Given the description of an element on the screen output the (x, y) to click on. 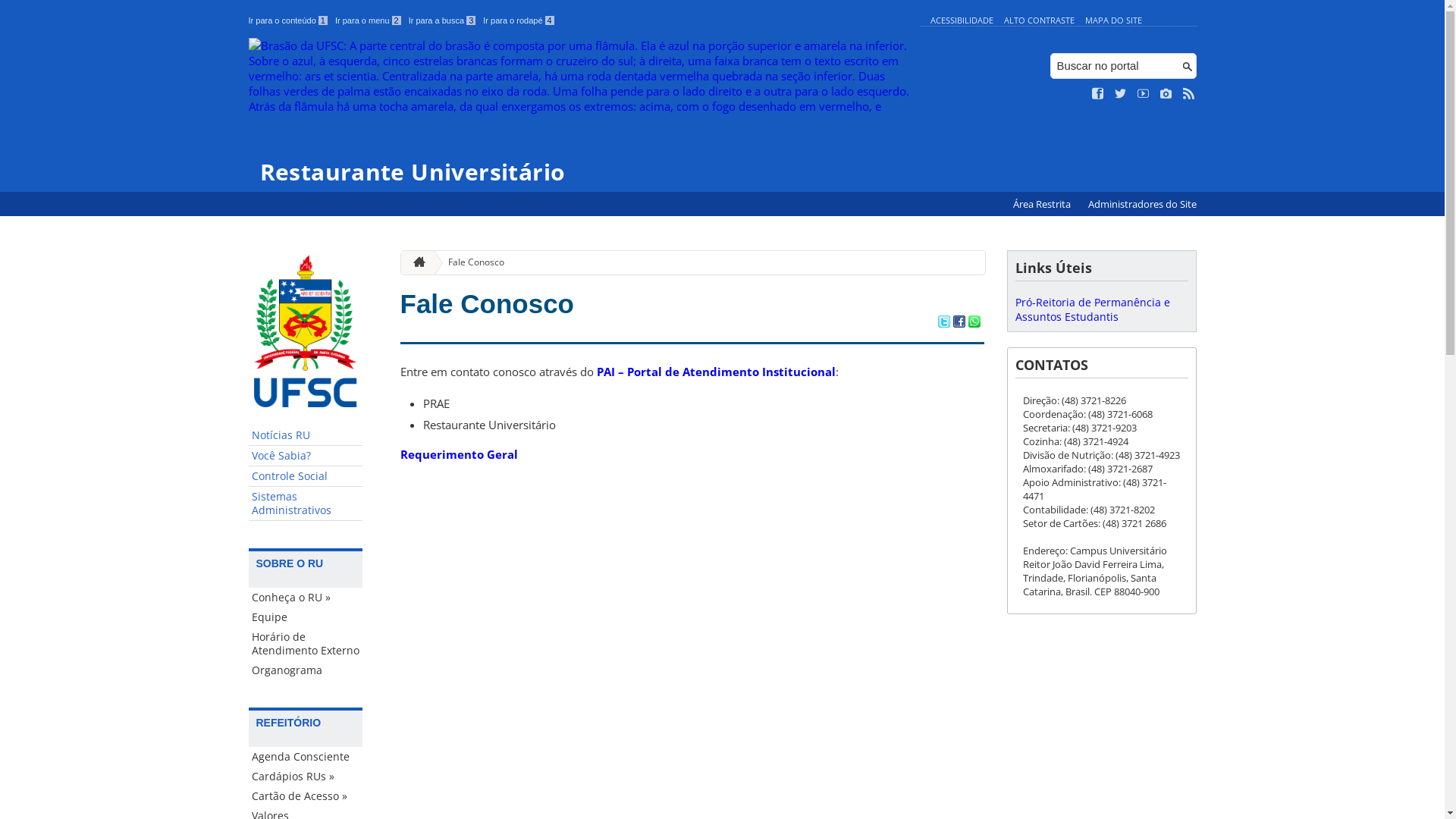
Veja no Instagram Element type: hover (1166, 93)
Controle Social Element type: text (305, 476)
Curta no Facebook Element type: hover (1098, 93)
Administradores do Site Element type: text (1141, 203)
Organograma Element type: text (305, 670)
Sistemas Administrativos Element type: text (305, 503)
Equipe Element type: text (305, 617)
Fale Conosco Element type: text (469, 262)
Compartilhar no Twitter Element type: hover (943, 322)
ALTO CONTRASTE Element type: text (1039, 19)
MAPA DO SITE Element type: text (1112, 19)
Siga no Twitter Element type: hover (1120, 93)
Compartilhar no WhatsApp Element type: hover (973, 322)
Ir para o menu 2 Element type: text (368, 20)
ACESSIBILIDADE Element type: text (960, 19)
Agenda Consciente Element type: text (305, 756)
Compartilhar no Facebook Element type: hover (958, 322)
Ir para a busca 3 Element type: text (442, 20)
Requerimento Geral Element type: text (458, 453)
Fale Conosco Element type: text (487, 303)
